Given the description of an element on the screen output the (x, y) to click on. 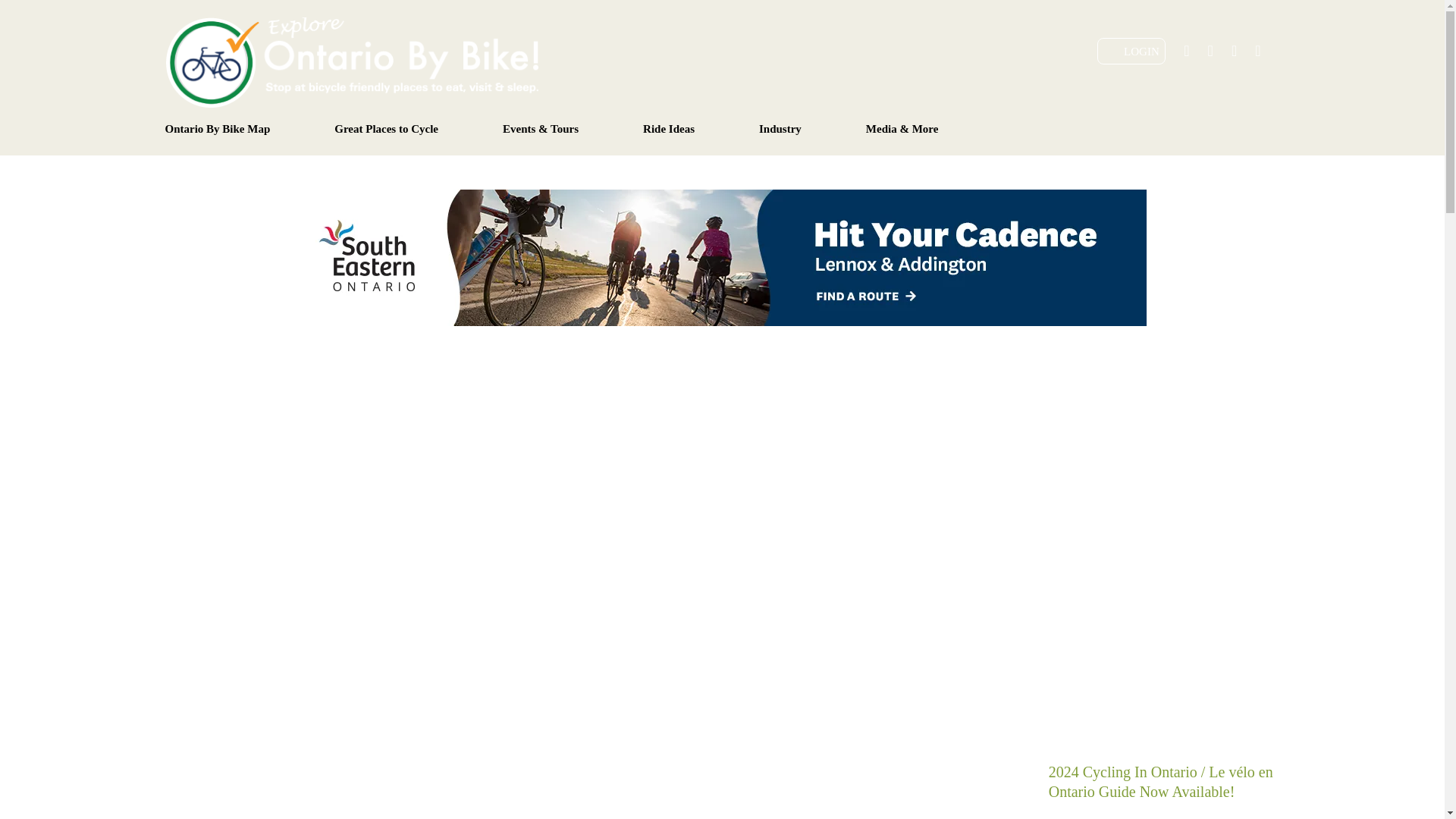
Ontario By Bike logo (351, 61)
